Given the description of an element on the screen output the (x, y) to click on. 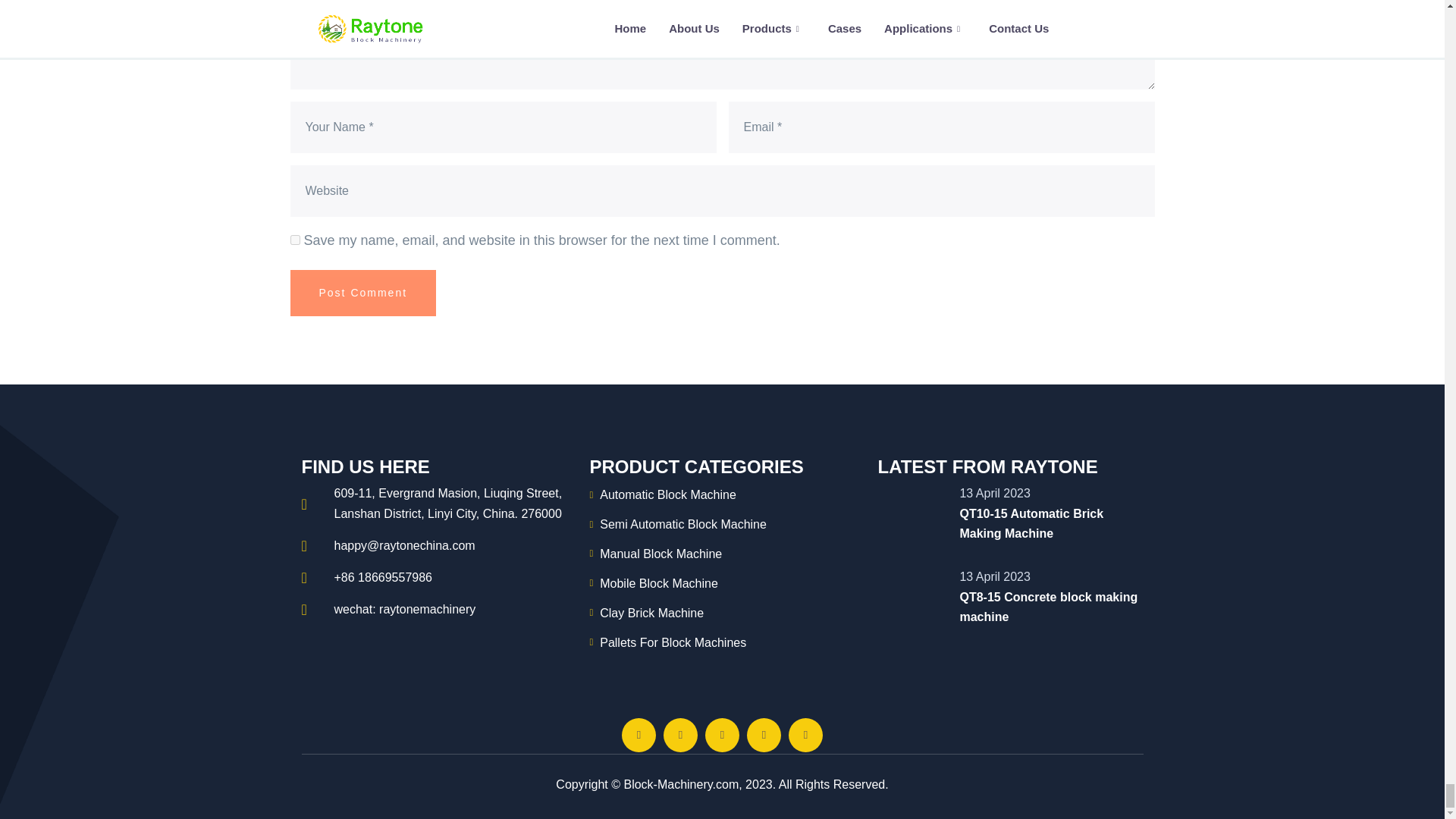
yes (294, 239)
Post Comment (362, 293)
